Given the description of an element on the screen output the (x, y) to click on. 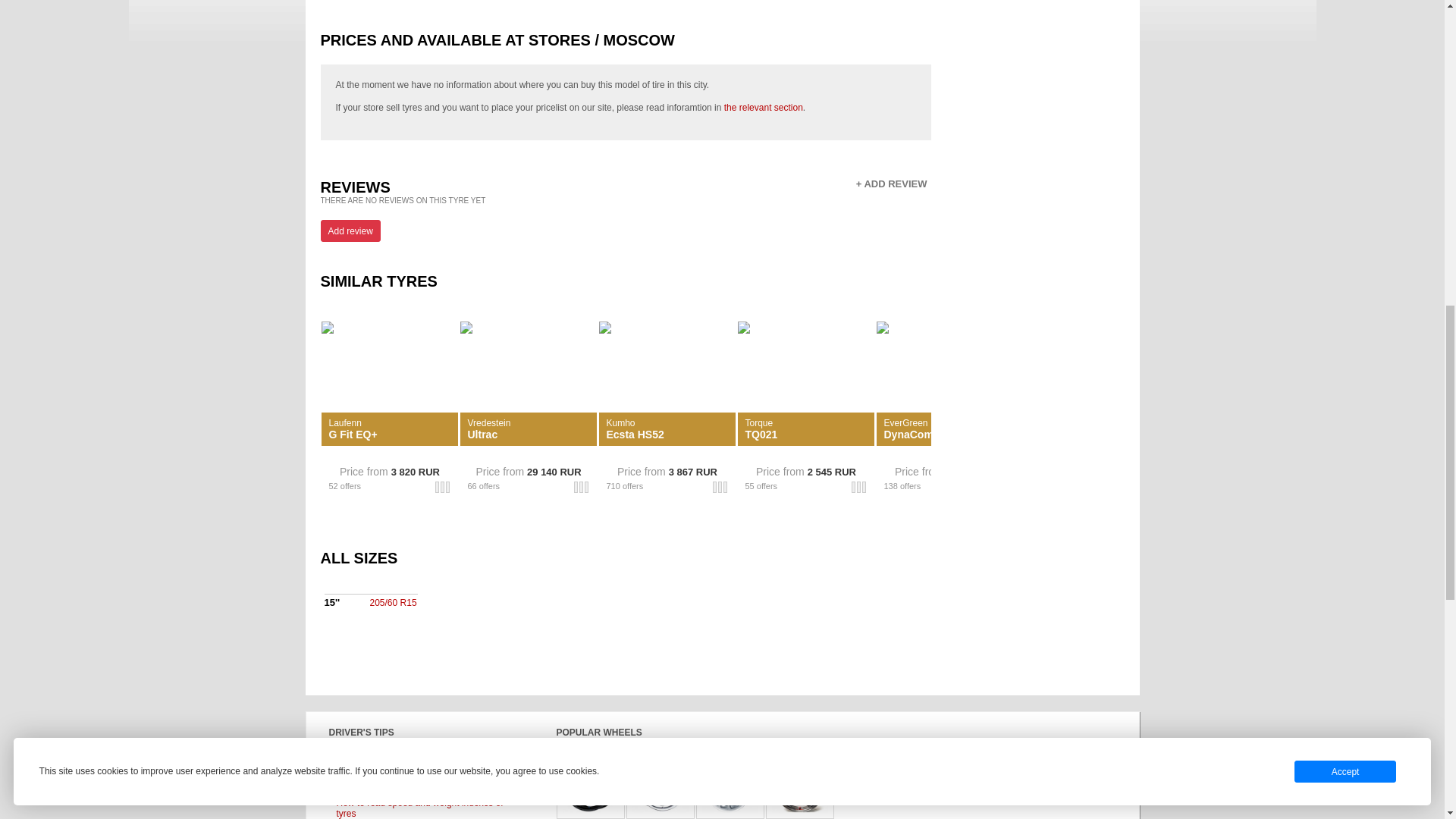
Advan Racing RG-D wheels (590, 783)
Volk Racing TE37SL wheels (799, 783)
Lenso Maglite wheels (660, 783)
